Given the description of an element on the screen output the (x, y) to click on. 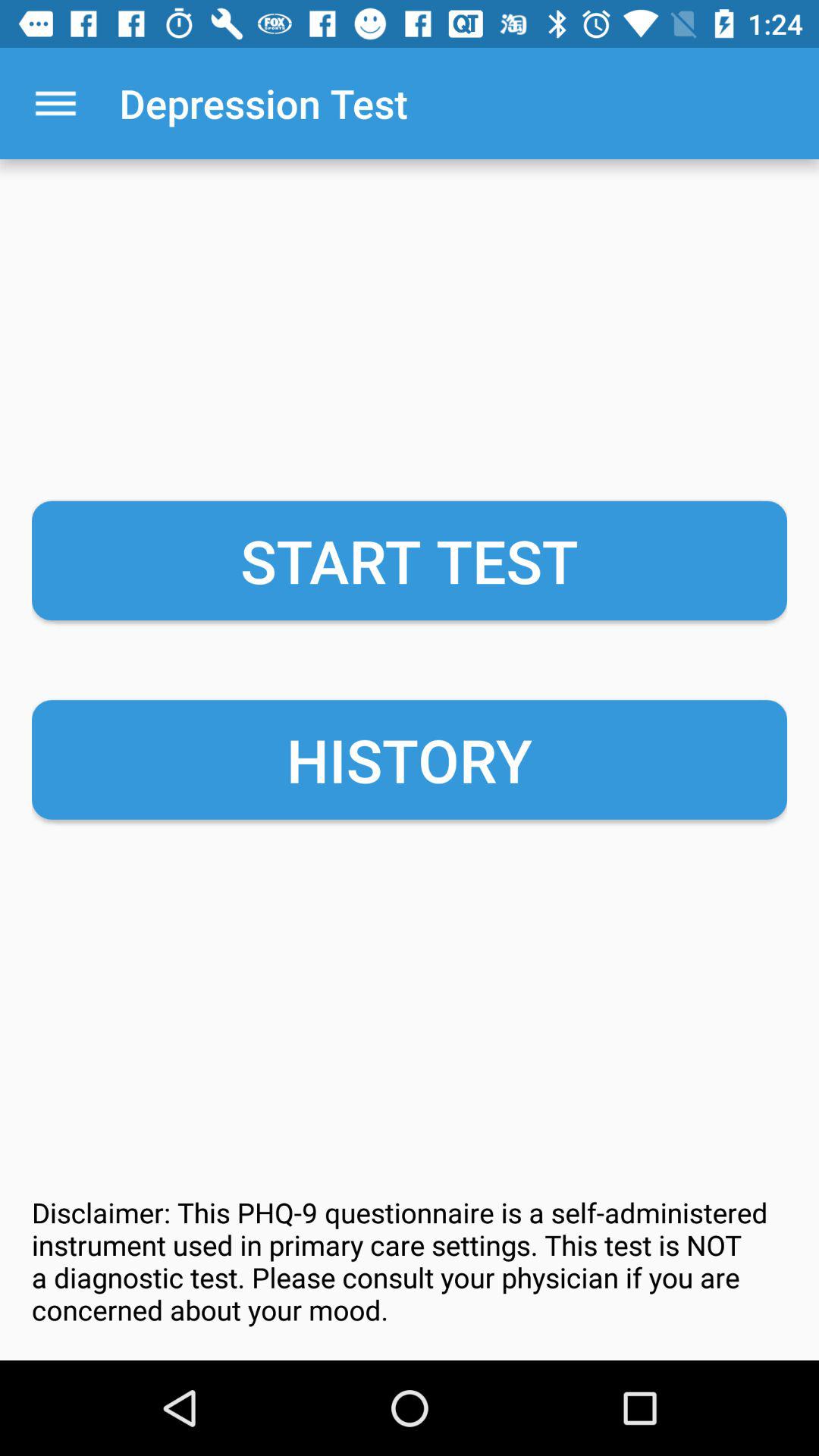
open button below start test button (409, 759)
